Given the description of an element on the screen output the (x, y) to click on. 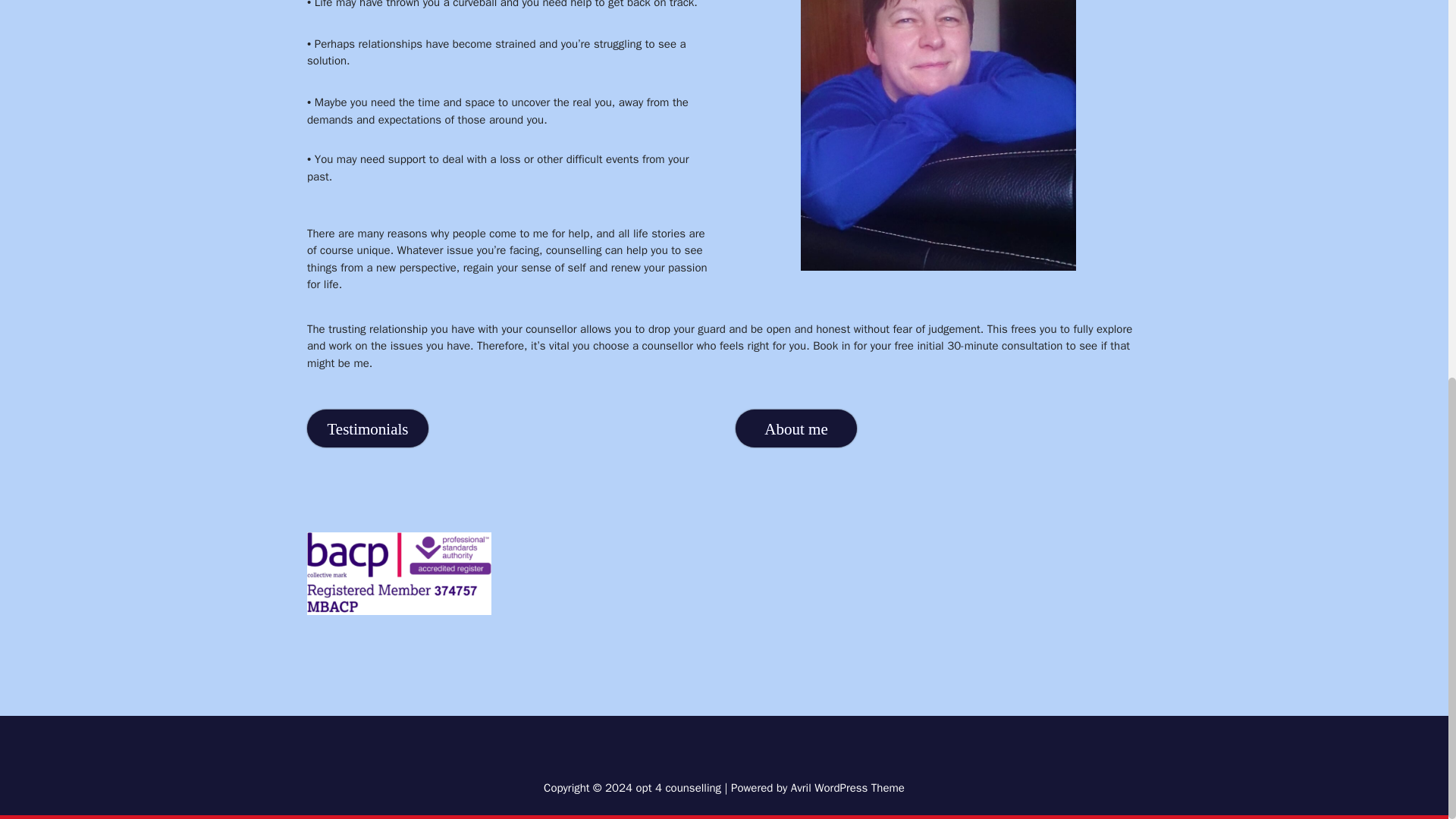
About me (796, 433)
Testimonials (367, 435)
Avril WordPress Theme (847, 787)
